Given the description of an element on the screen output the (x, y) to click on. 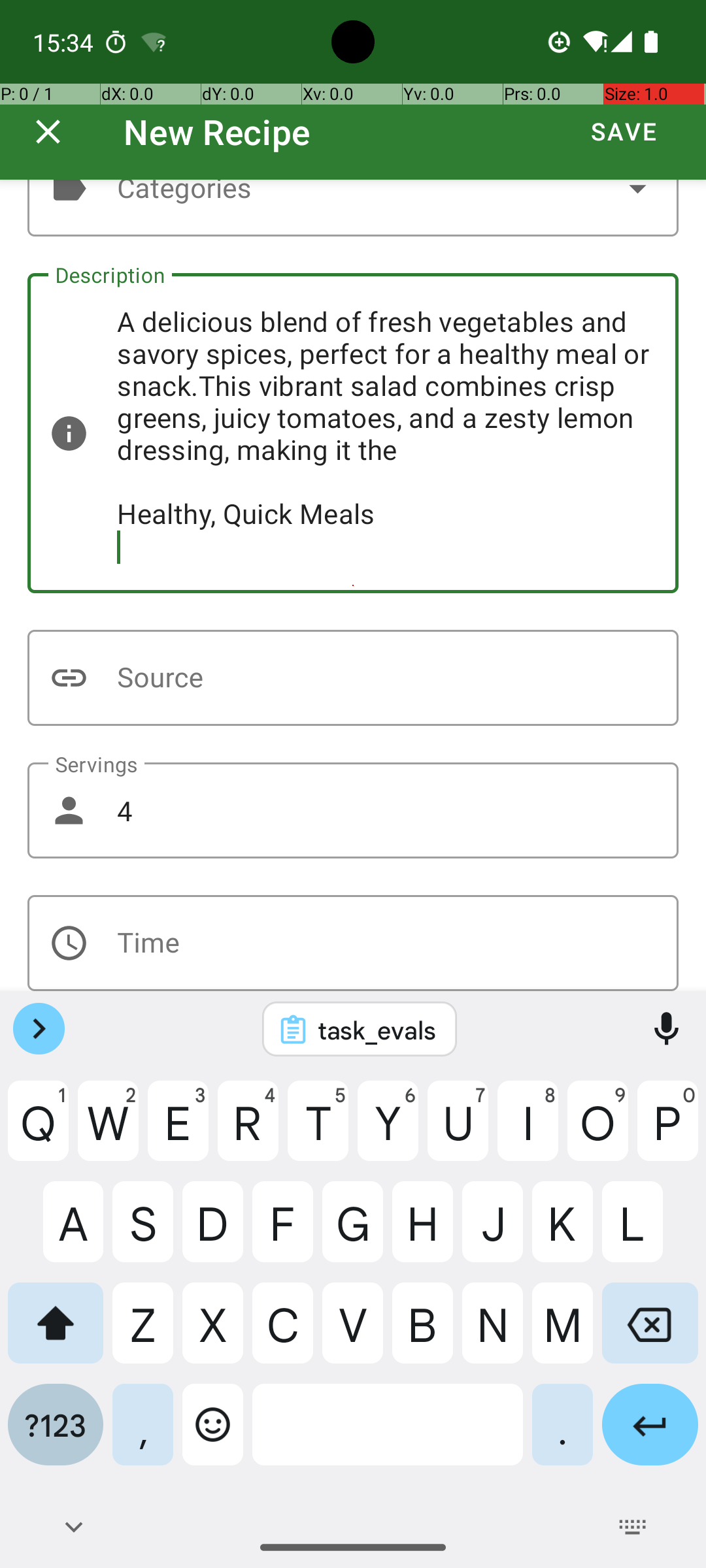
A delicious blend of fresh vegetables and savory spices, perfect for a healthy meal or snack.This vibrant salad combines crisp greens, juicy tomatoes, and a zesty lemon dressing, making it the

Healthy, Quick Meals
 Element type: android.widget.EditText (352, 433)
task_evals Element type: android.widget.TextView (376, 1029)
